Given the description of an element on the screen output the (x, y) to click on. 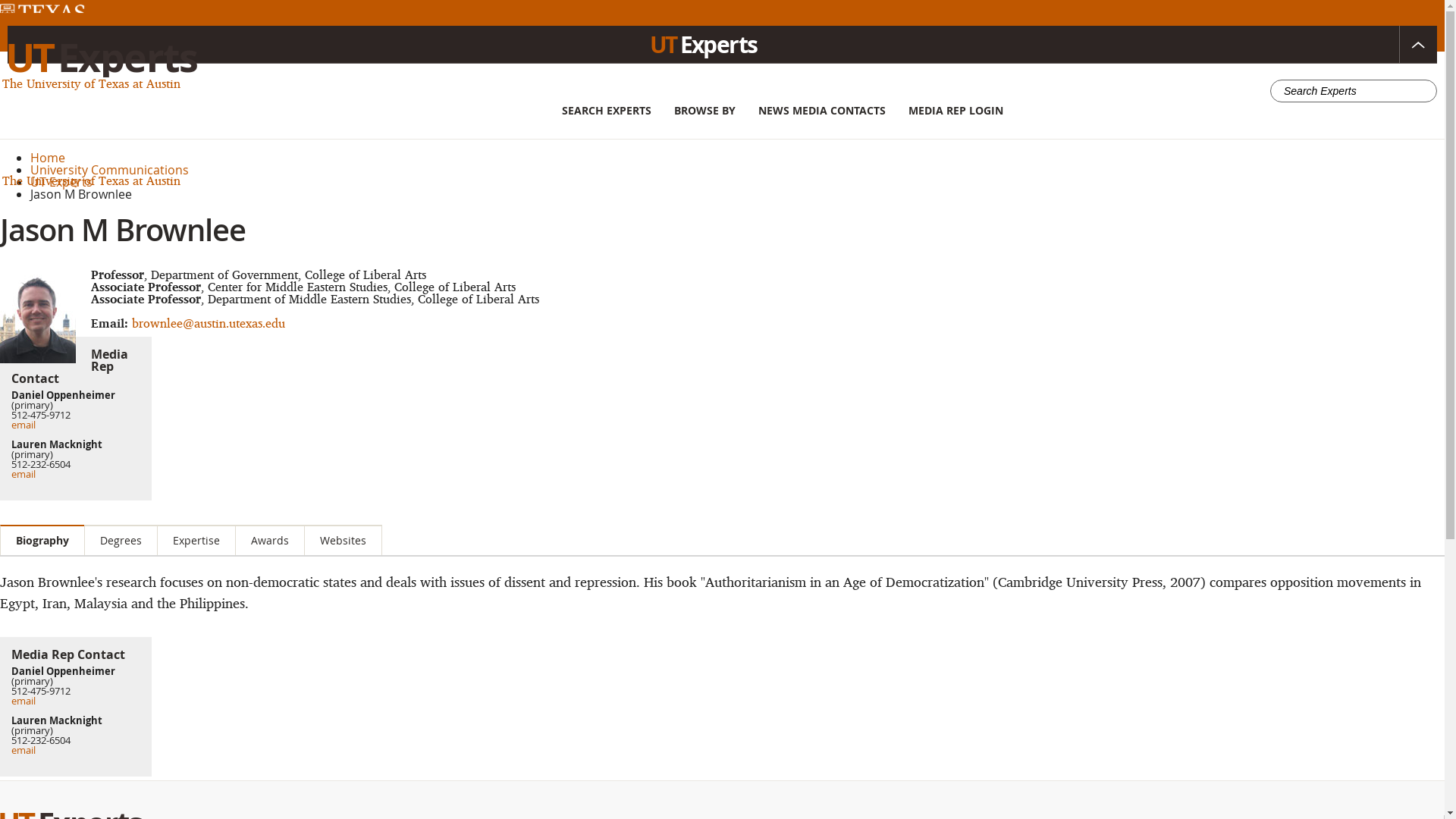
Skip to main content (58, 7)
The University of Texas at Austin (91, 180)
The University of Texas at Austin (91, 83)
University Communications (109, 169)
Biography (42, 539)
Home (47, 157)
UT Experts (61, 181)
email (22, 700)
Expertise (195, 539)
email (22, 473)
UTExperts (722, 44)
email (22, 424)
email (22, 749)
Websites (342, 539)
UTExperts (101, 56)
